Given the description of an element on the screen output the (x, y) to click on. 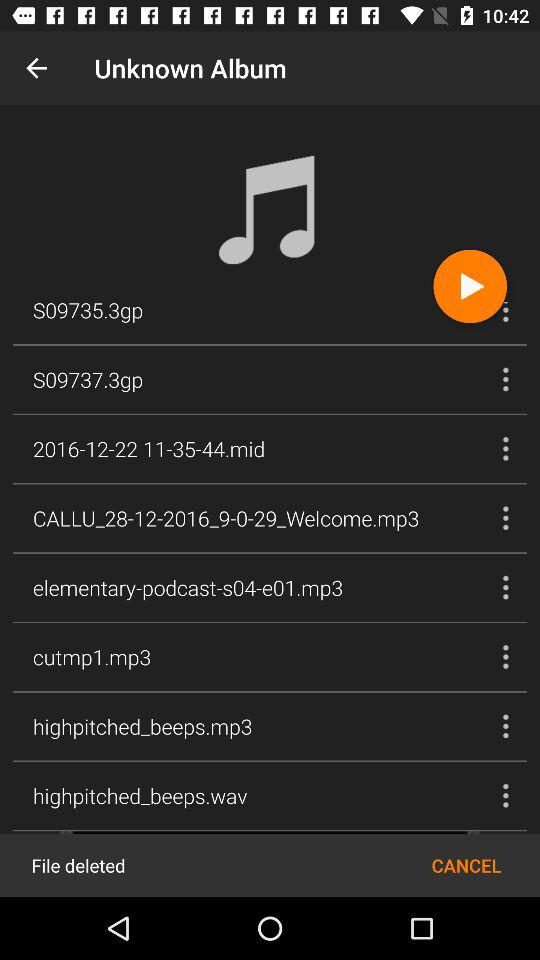
click icon to the right of the s09735.3gp (470, 286)
